Given the description of an element on the screen output the (x, y) to click on. 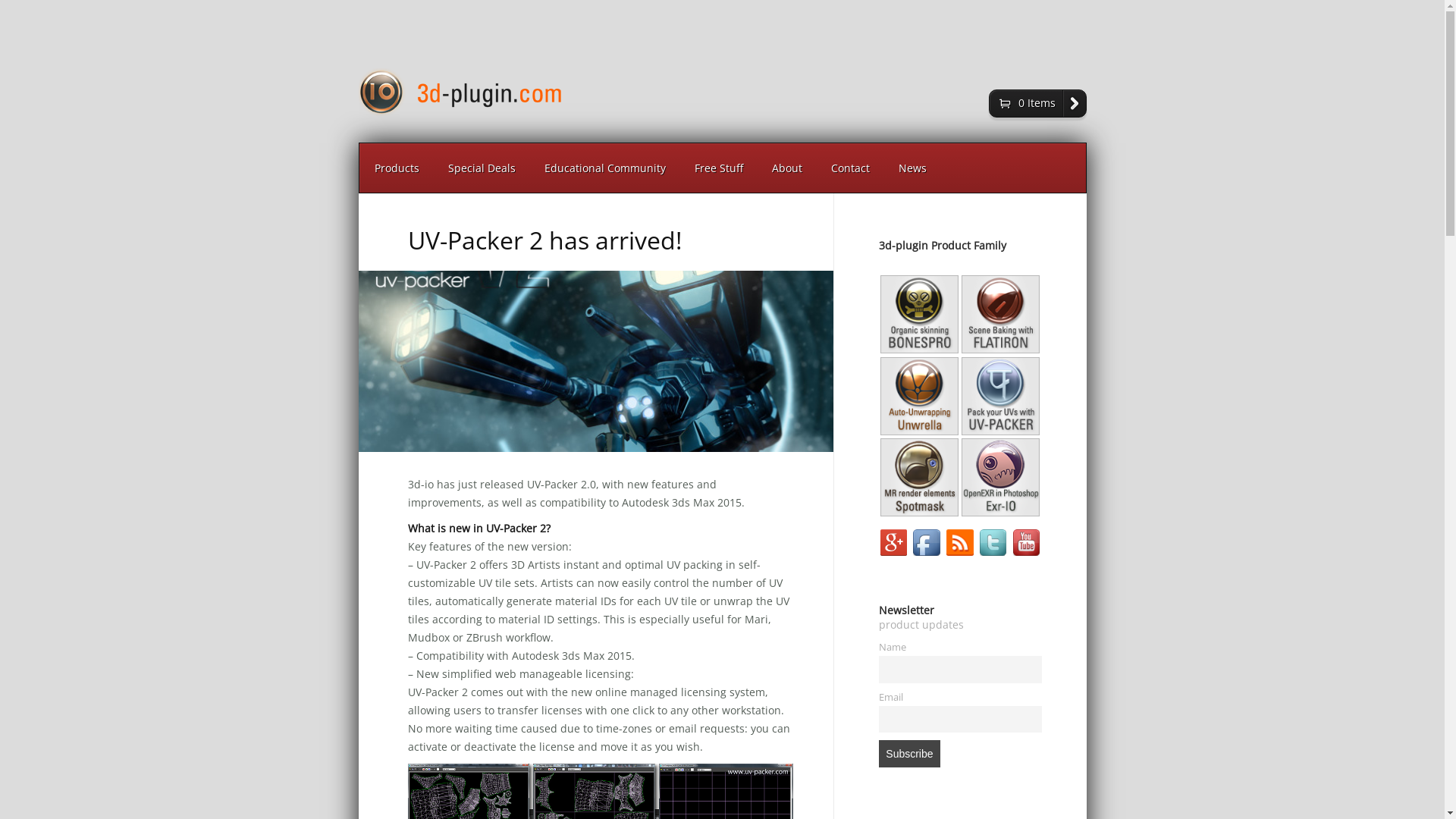
Educational Community Element type: text (604, 168)
3d-plugin Youtube Channel Element type: hover (1026, 553)
About Element type: text (785, 168)
Subscribe Element type: text (909, 753)
Contact Element type: text (849, 168)
0 Items Element type: text (1037, 103)
Special Deals Element type: text (481, 168)
Products Element type: text (396, 168)
News Element type: text (912, 168)
Follow 3d-plugin on Twitter Element type: hover (994, 553)
RSS feed for 3d-Plugin Element type: hover (961, 553)
Free Stuff Element type: text (717, 168)
